Given the description of an element on the screen output the (x, y) to click on. 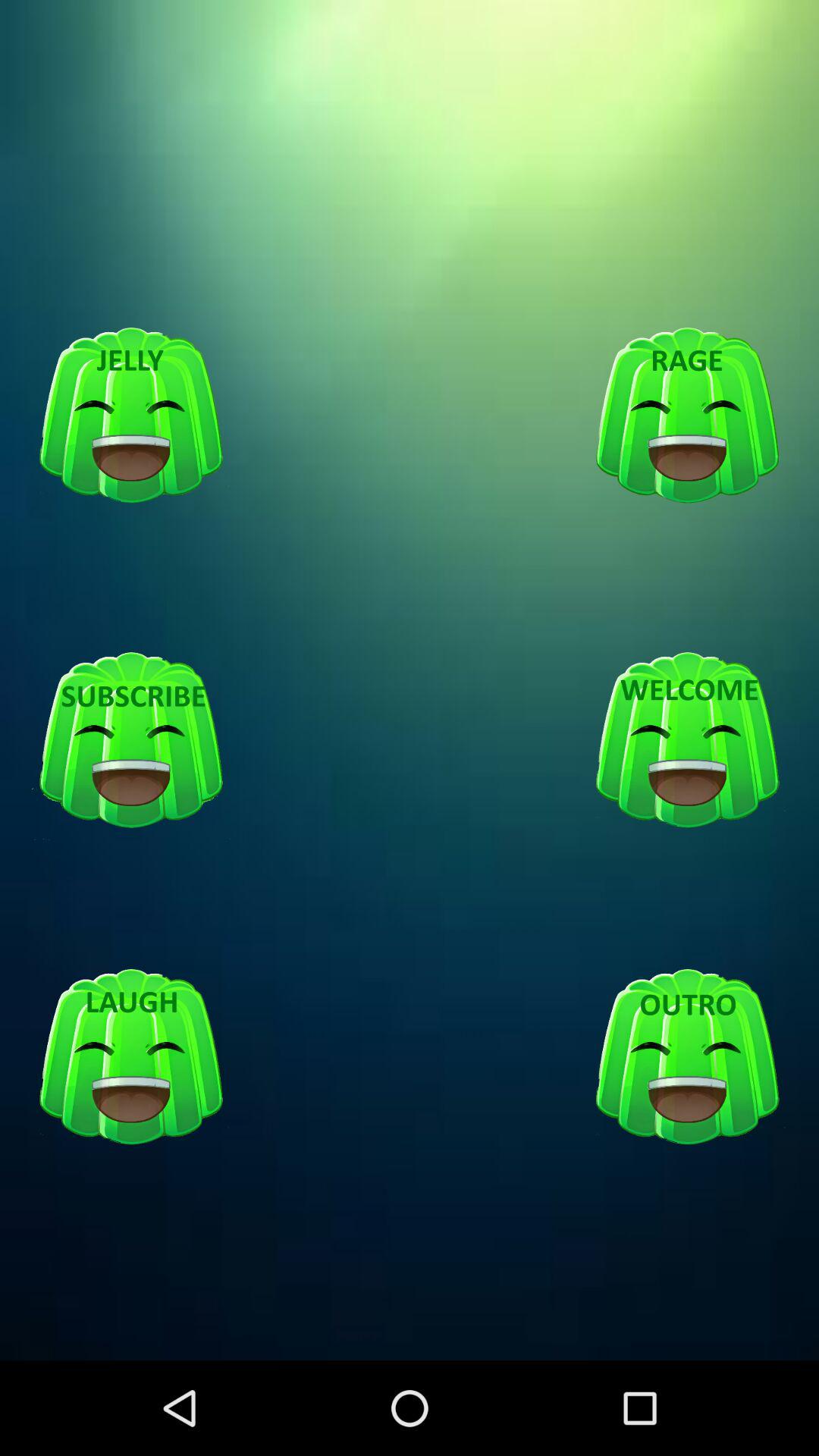
shows welcome option (687, 740)
